Given the description of an element on the screen output the (x, y) to click on. 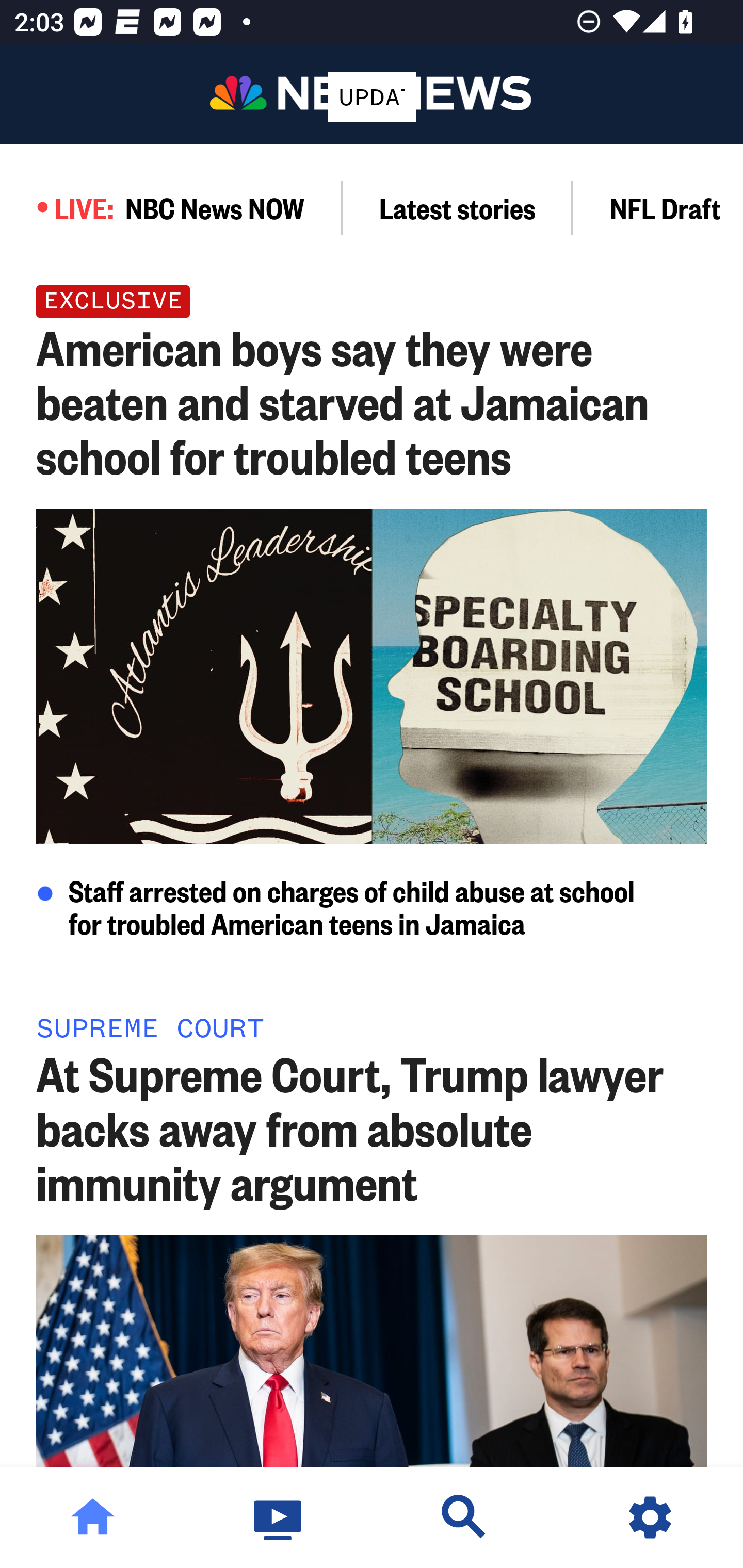
LIVE:  NBC News NOW (171, 207)
Latest stories Section,Latest stories (457, 207)
NFL Draft (658, 207)
Watch (278, 1517)
Discover (464, 1517)
Settings (650, 1517)
